Given the description of an element on the screen output the (x, y) to click on. 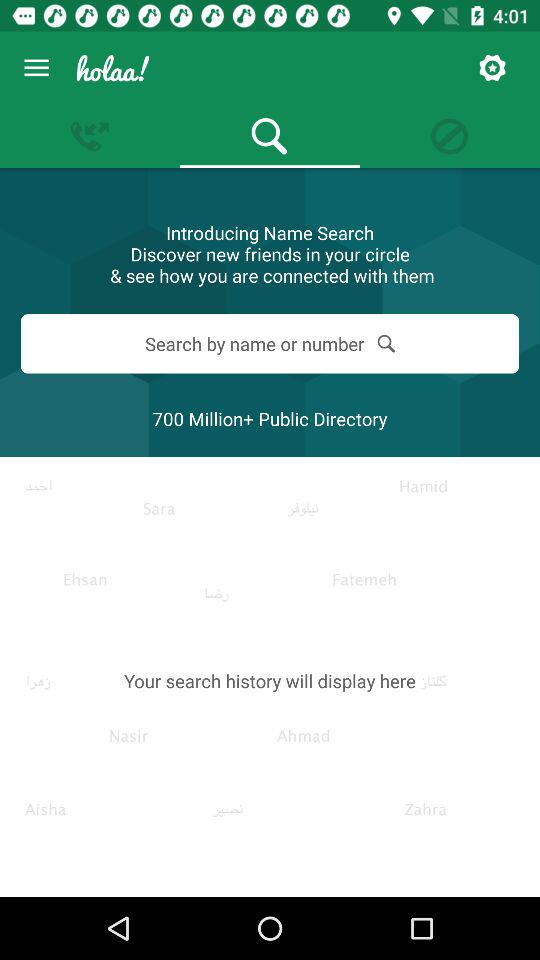
settings button (492, 68)
